Given the description of an element on the screen output the (x, y) to click on. 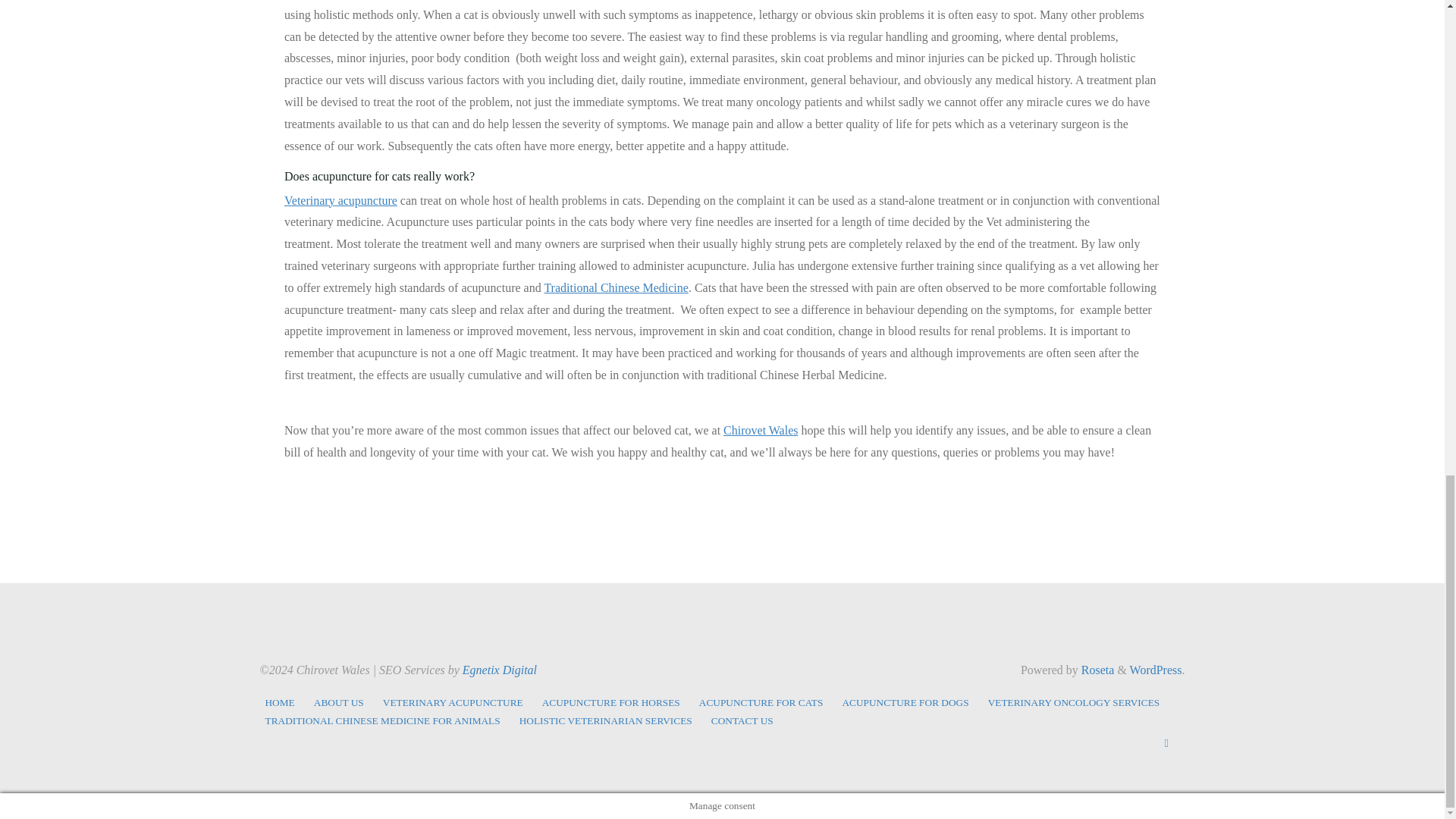
Roseta WordPress Theme by Cryout Creations (1096, 669)
Semantic Personal Publishing Platform (1155, 669)
